Given the description of an element on the screen output the (x, y) to click on. 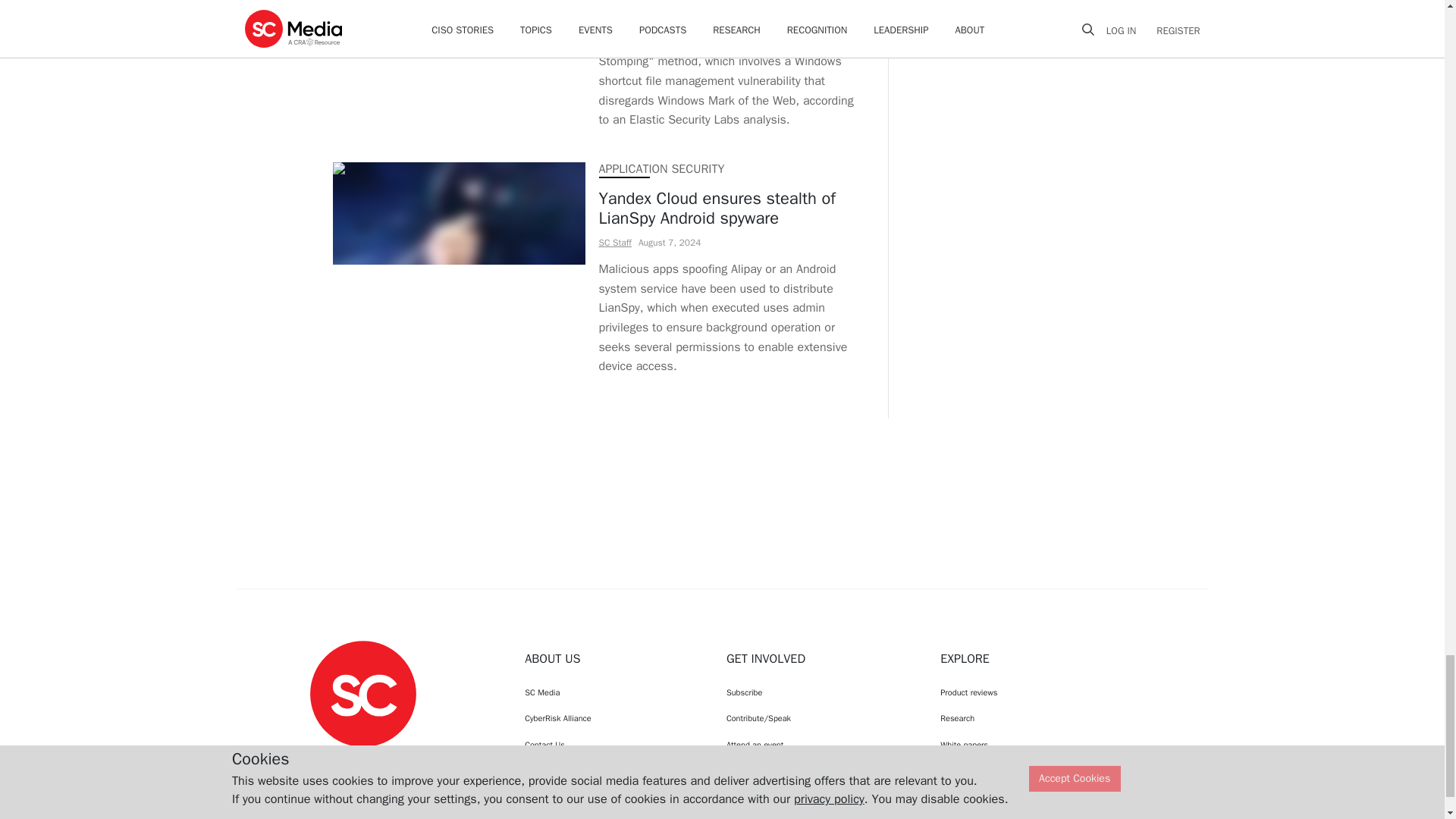
SC Staff (614, 242)
SCMagazine on Twitter (362, 760)
SC Staff (614, 15)
Yandex Cloud ensures stealth of LianSpy Android spyware (729, 209)
SCMagazine on LinkedIn (401, 760)
APPLICATION SECURITY (661, 168)
SCMagazine on Facebook (324, 760)
SC Media (362, 693)
